Given the description of an element on the screen output the (x, y) to click on. 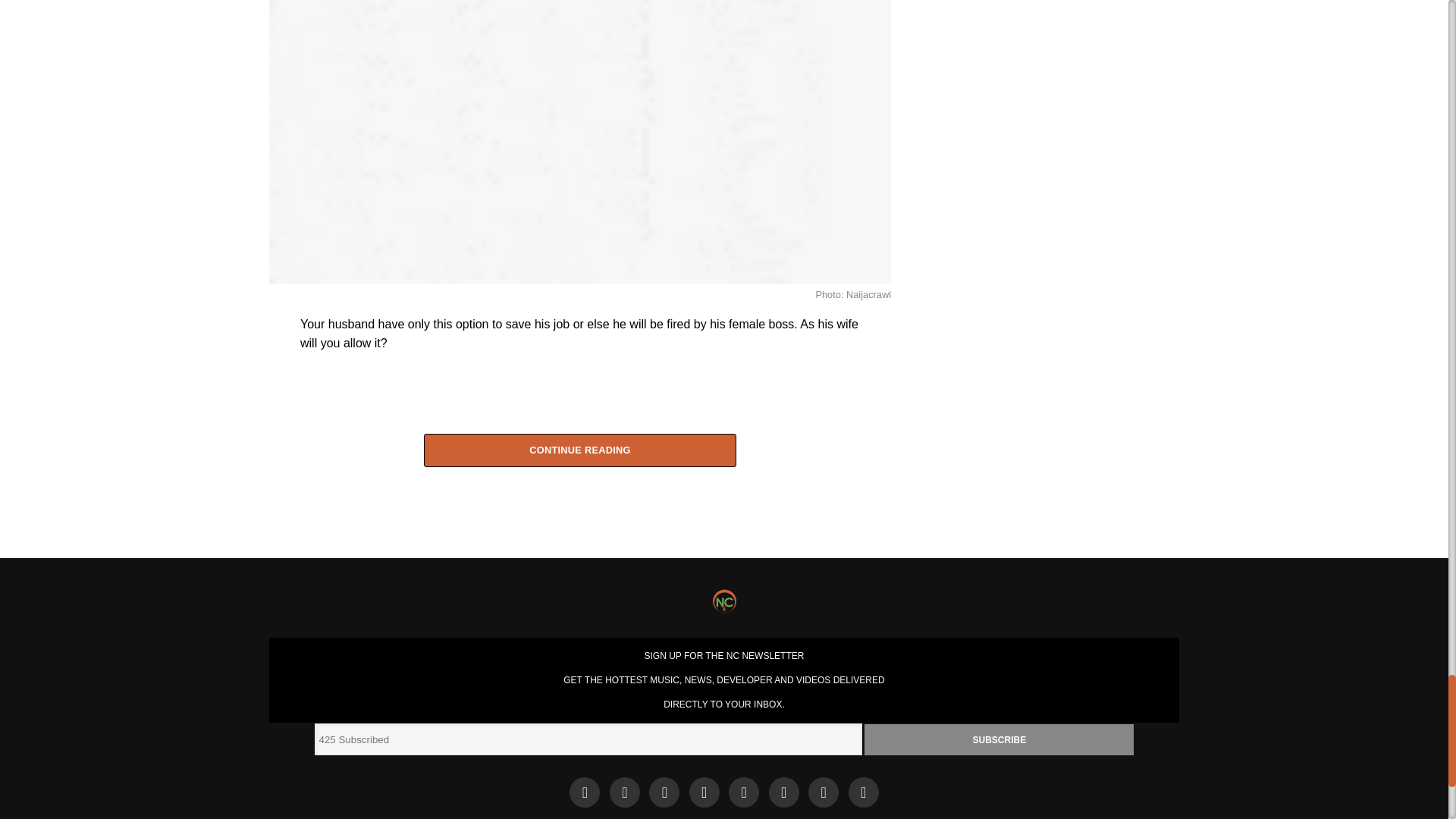
Subscribe (999, 739)
